Given the description of an element on the screen output the (x, y) to click on. 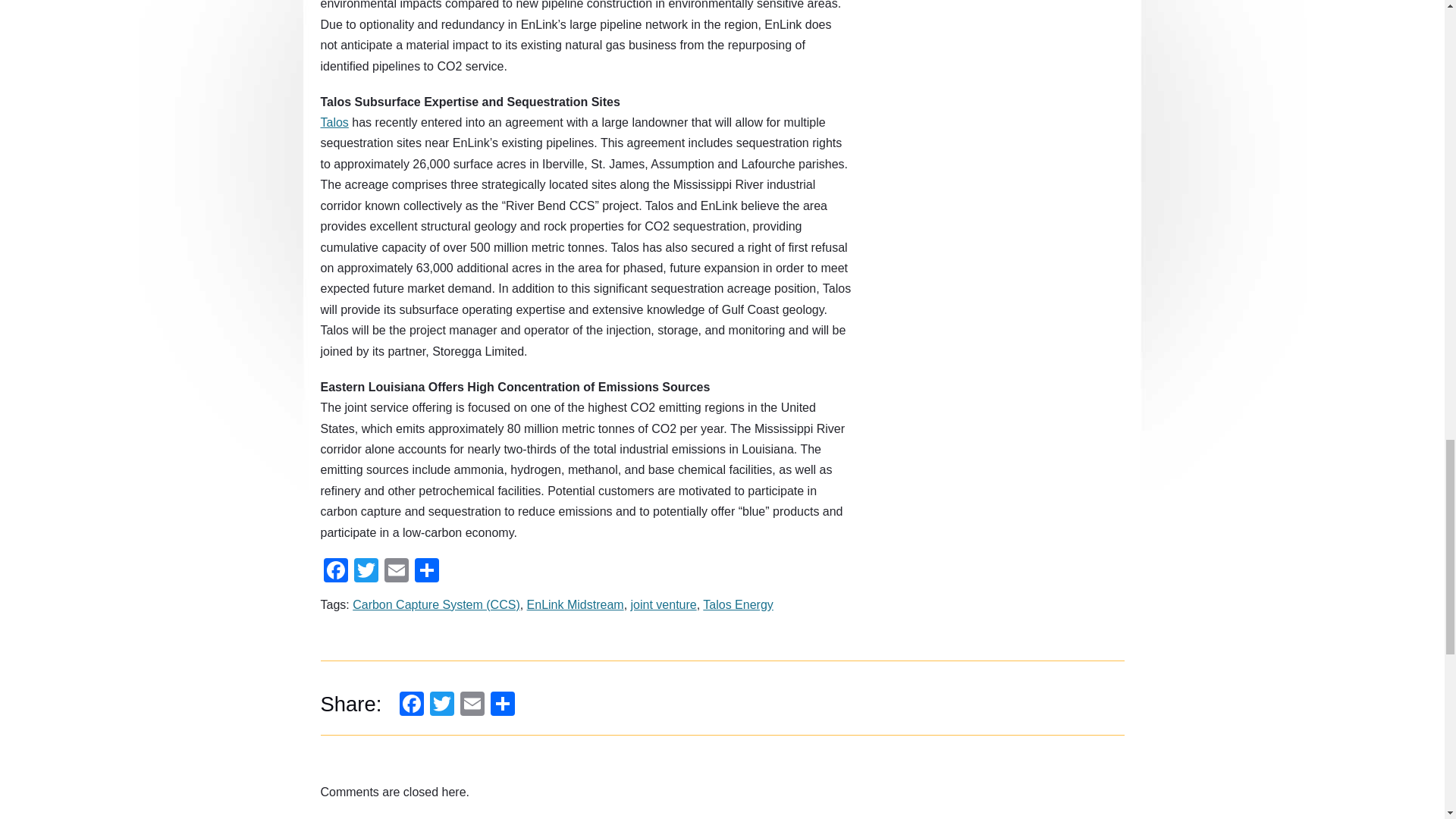
Talos Energy (738, 604)
Twitter (365, 569)
Talos (333, 122)
Facebook (335, 569)
Twitter (441, 703)
joint venture (663, 604)
Twitter (441, 703)
Email (395, 569)
Facebook (335, 569)
Email (395, 569)
